Given the description of an element on the screen output the (x, y) to click on. 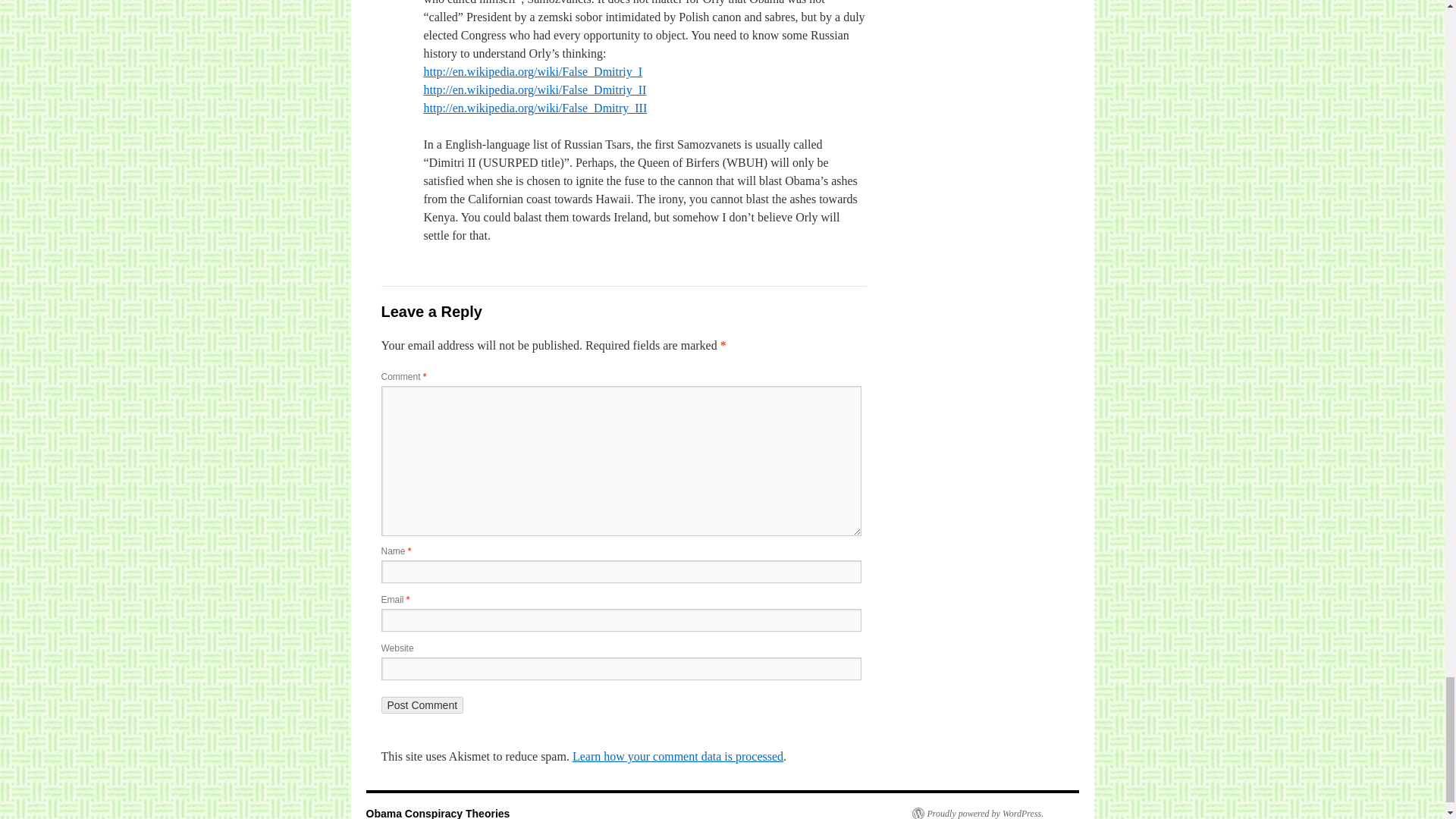
Post Comment (421, 704)
